Given the description of an element on the screen output the (x, y) to click on. 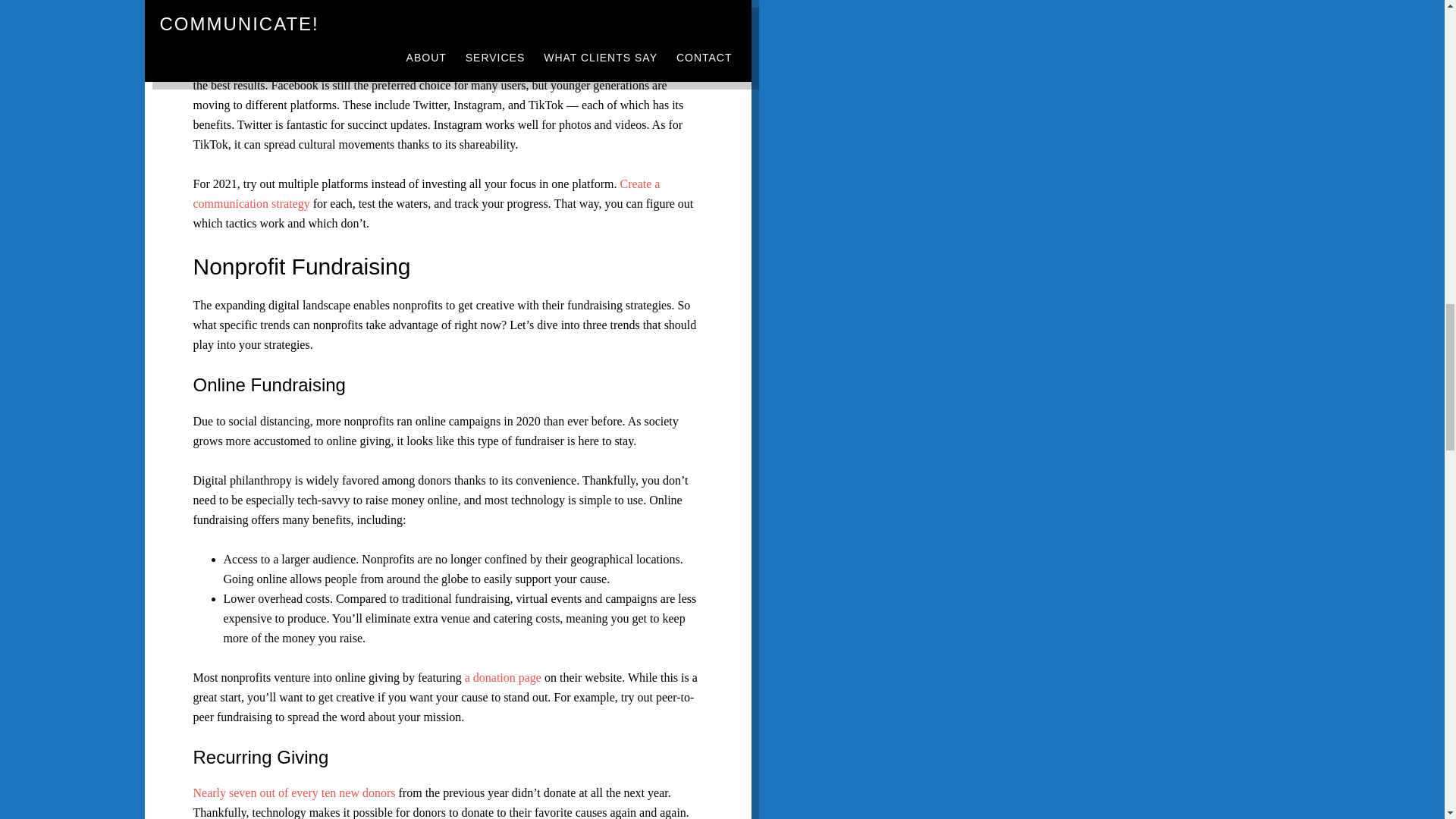
Create a communication strategy (425, 193)
a donation page (502, 676)
Nearly seven out of every ten new donors (293, 792)
